Given the description of an element on the screen output the (x, y) to click on. 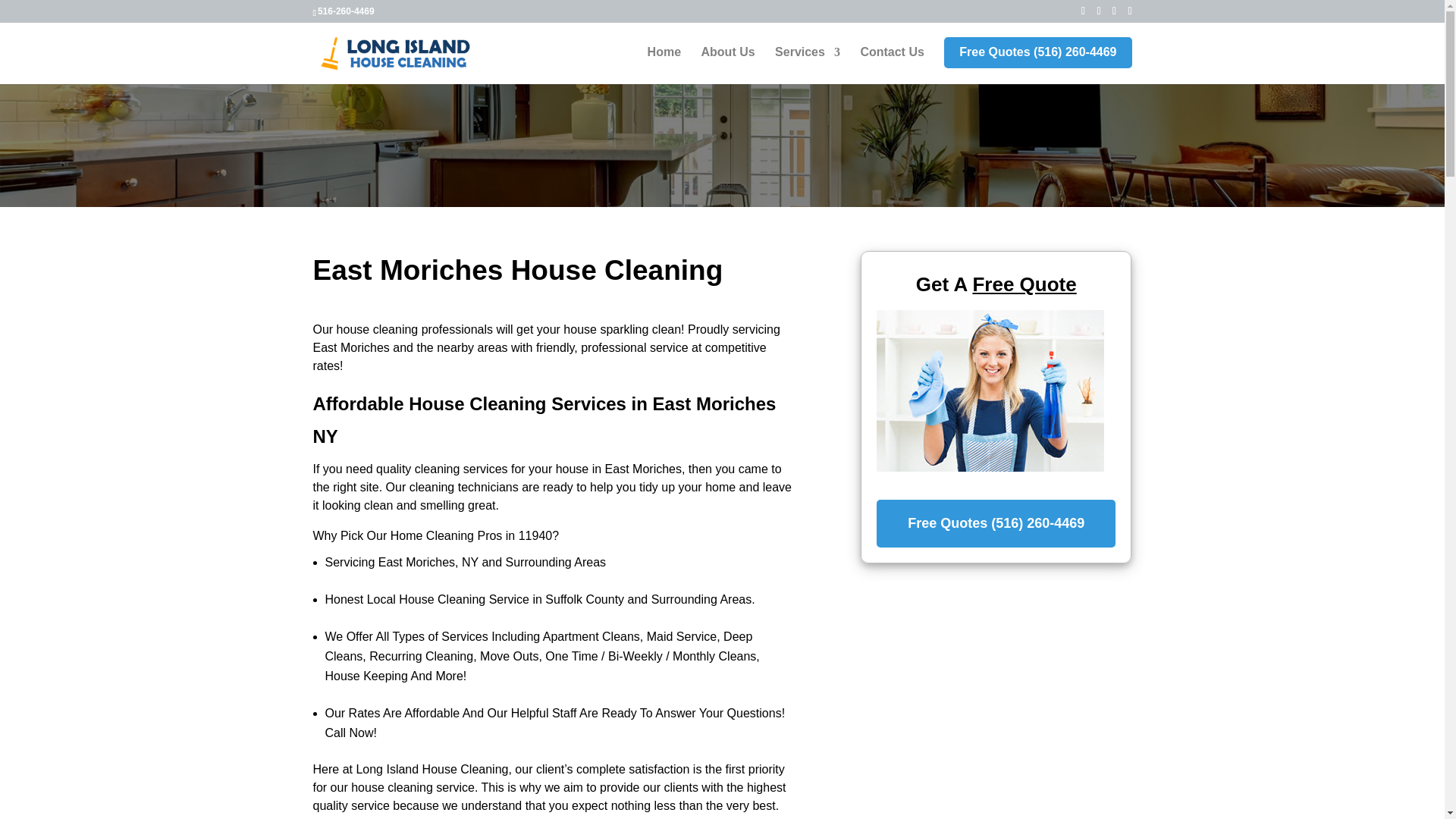
About Us (728, 65)
Contact Us (891, 65)
Services (807, 65)
Home (664, 65)
